Given the description of an element on the screen output the (x, y) to click on. 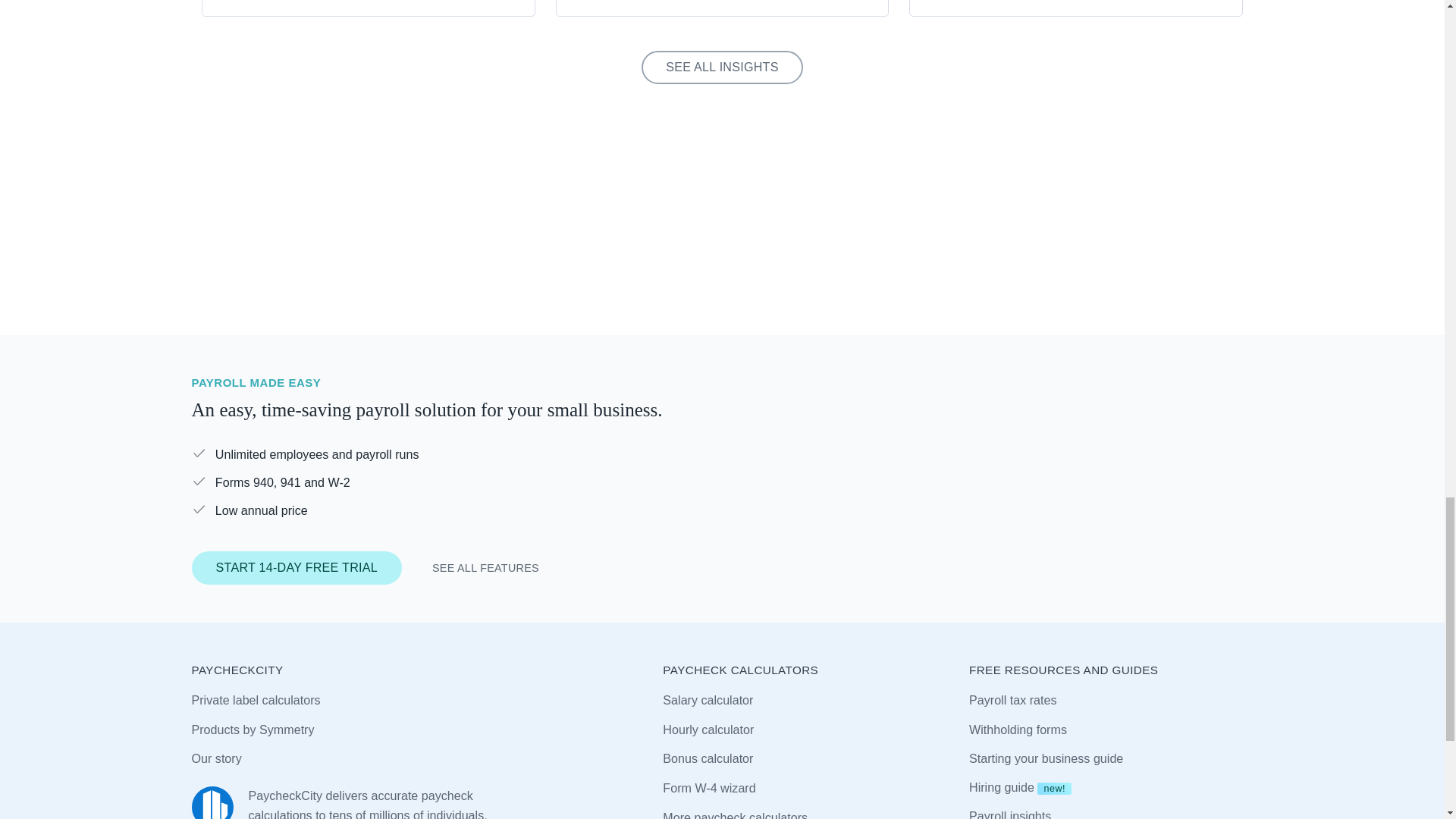
Withholding forms (1018, 729)
Payroll insights (1010, 812)
SEE ALL FEATURES (485, 567)
Products by Symmetry (252, 729)
Private label calculators (255, 700)
Starting your business guide (1045, 759)
Form W-4 wizard (708, 788)
Hiring guide new! (1020, 787)
PaycheckCity (211, 802)
Our story (215, 759)
